Given the description of an element on the screen output the (x, y) to click on. 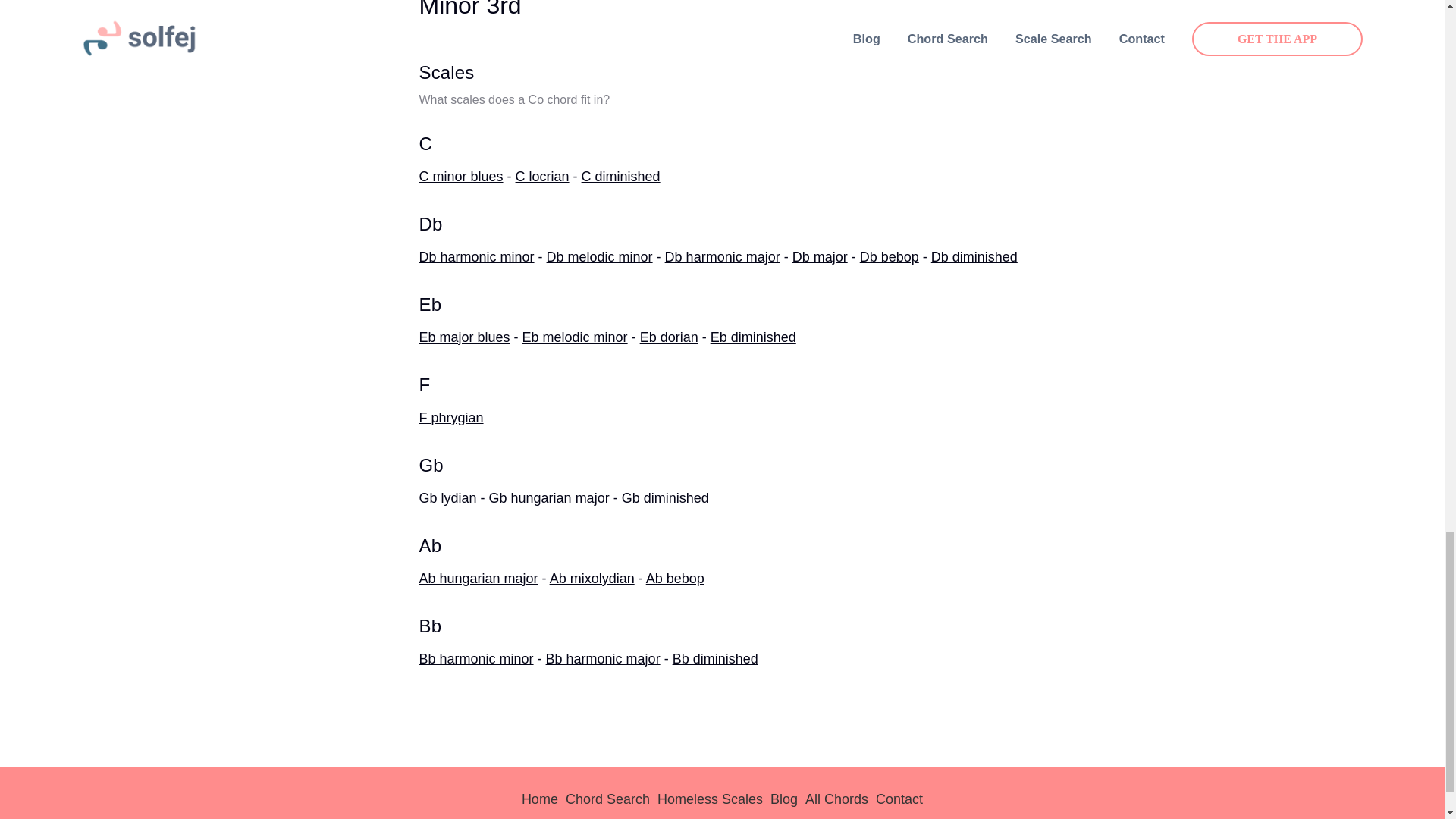
Db harmonic minor (476, 256)
Gb hungarian major (549, 498)
Gb diminished (665, 498)
Bb harmonic major (603, 658)
Db harmonic major (722, 256)
C locrian (542, 176)
Db melodic minor (599, 256)
Eb melodic minor (574, 337)
Bb harmonic minor (475, 658)
C minor blues (460, 176)
